Given the description of an element on the screen output the (x, y) to click on. 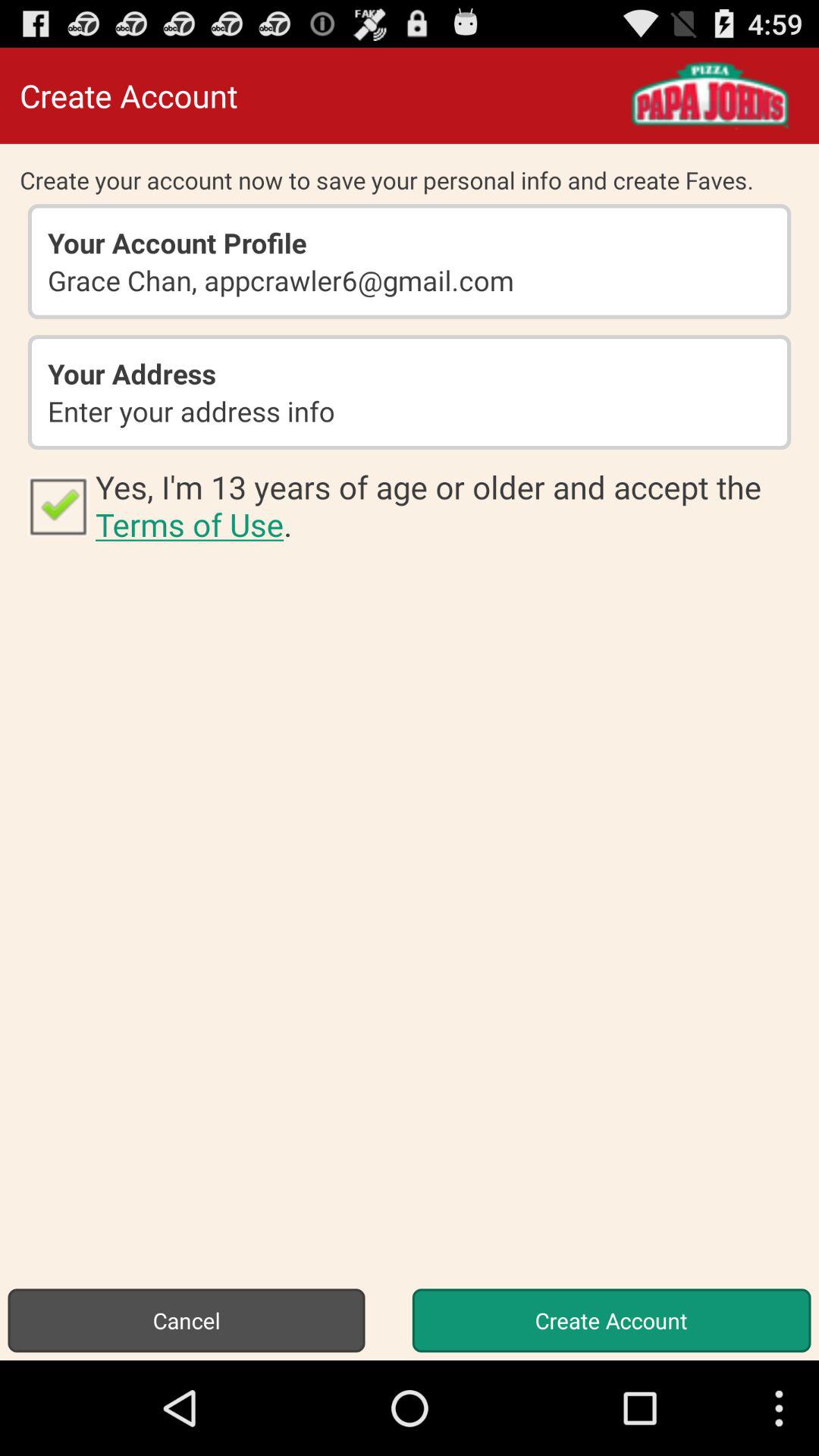
turn on the cancel icon (186, 1320)
